Given the description of an element on the screen output the (x, y) to click on. 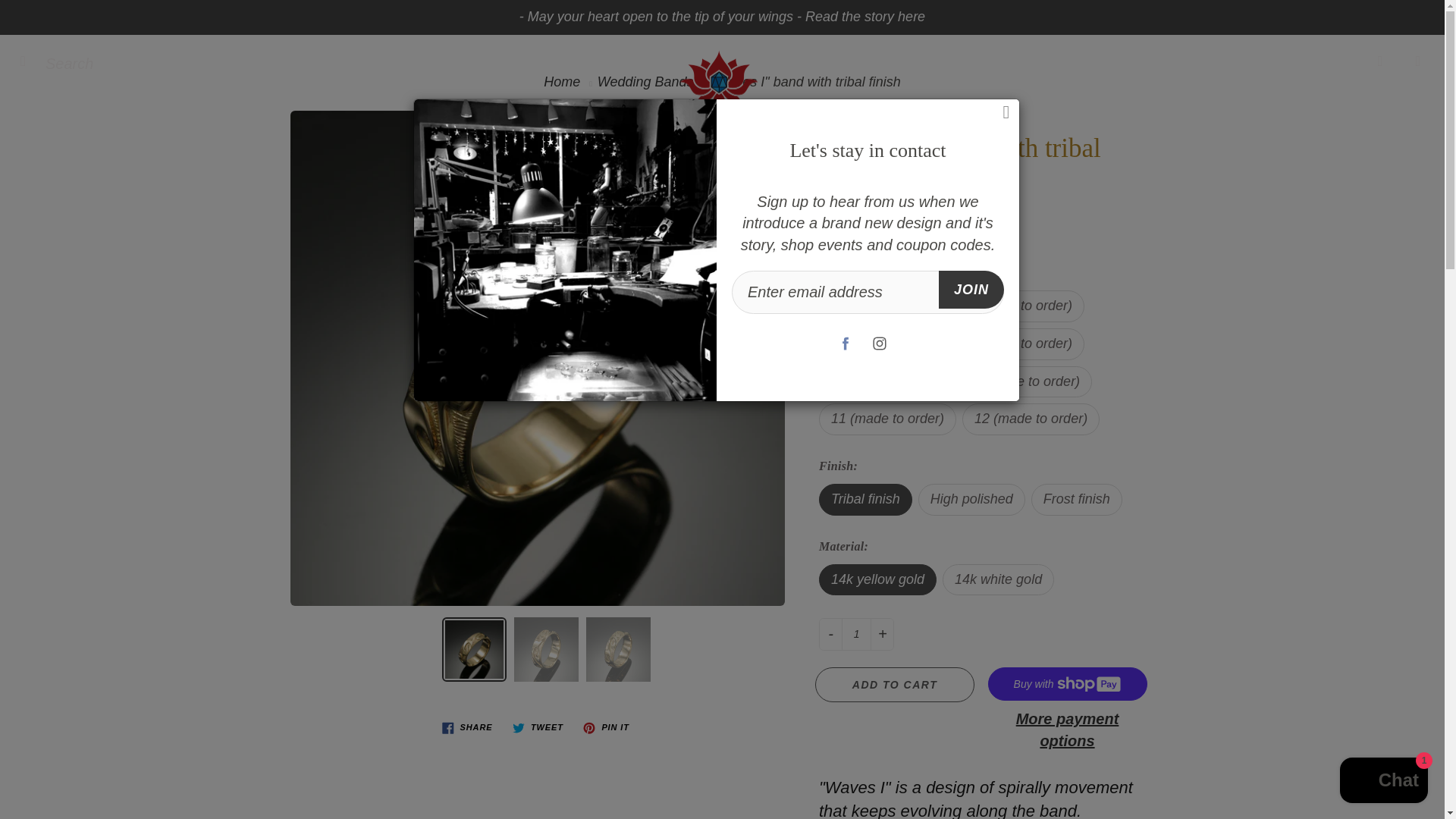
Tweet on Twitter (537, 728)
Pin on Pinterest (605, 728)
COLLECTIONS (644, 205)
Share on Facebook (467, 728)
My account (1379, 60)
CUSTOM (804, 205)
Facebook (845, 343)
"Waves I" band with tribal finish (545, 649)
You have 0 items in your cart (1417, 60)
Home (561, 81)
Search (28, 60)
"Waves I" band with tribal finish (474, 648)
HOME (501, 205)
1 (855, 634)
ABOUT (932, 205)
